Given the description of an element on the screen output the (x, y) to click on. 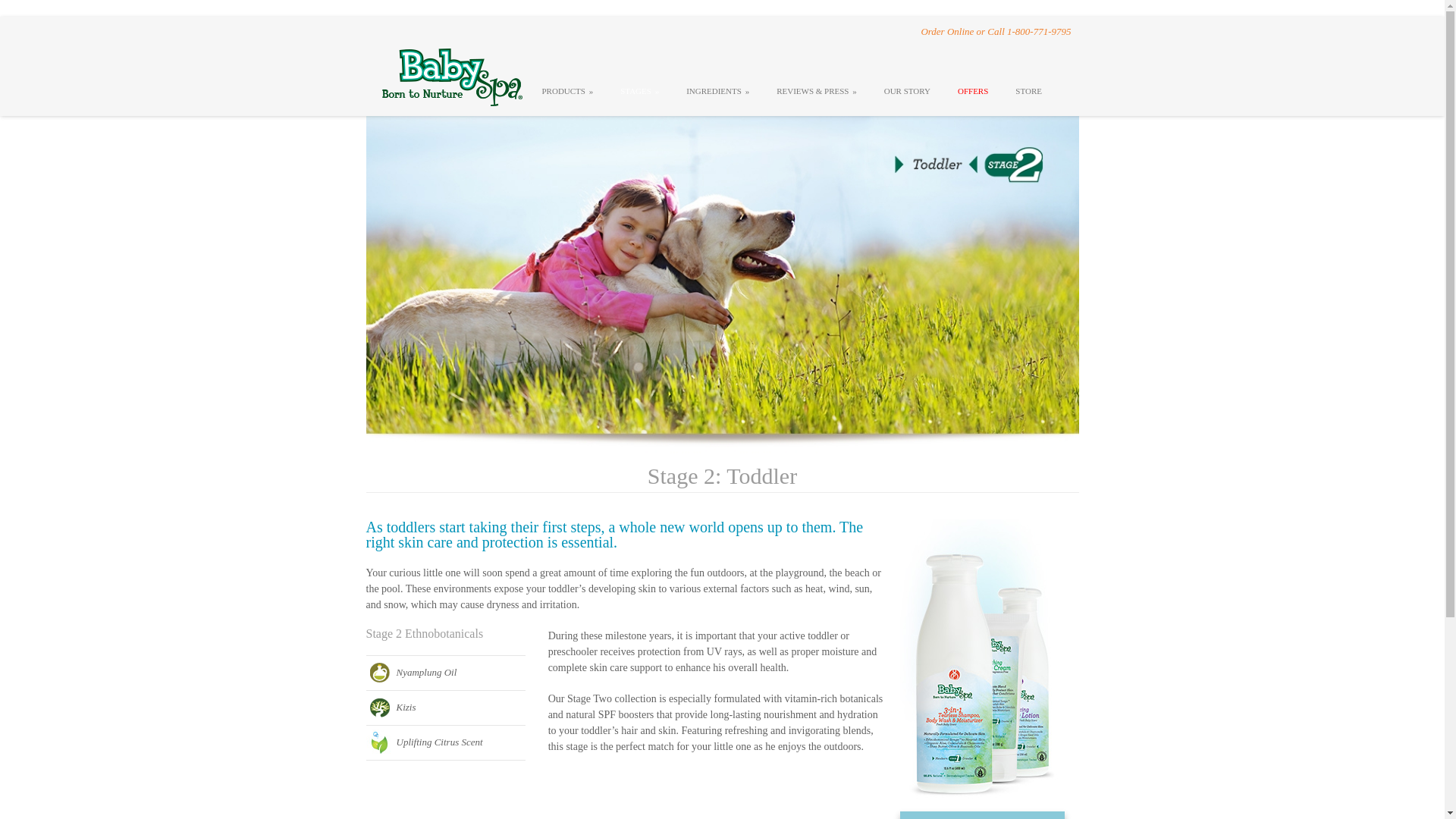
OUR STORY (906, 87)
OFFERS (972, 87)
STORE (1028, 87)
